Given the description of an element on the screen output the (x, y) to click on. 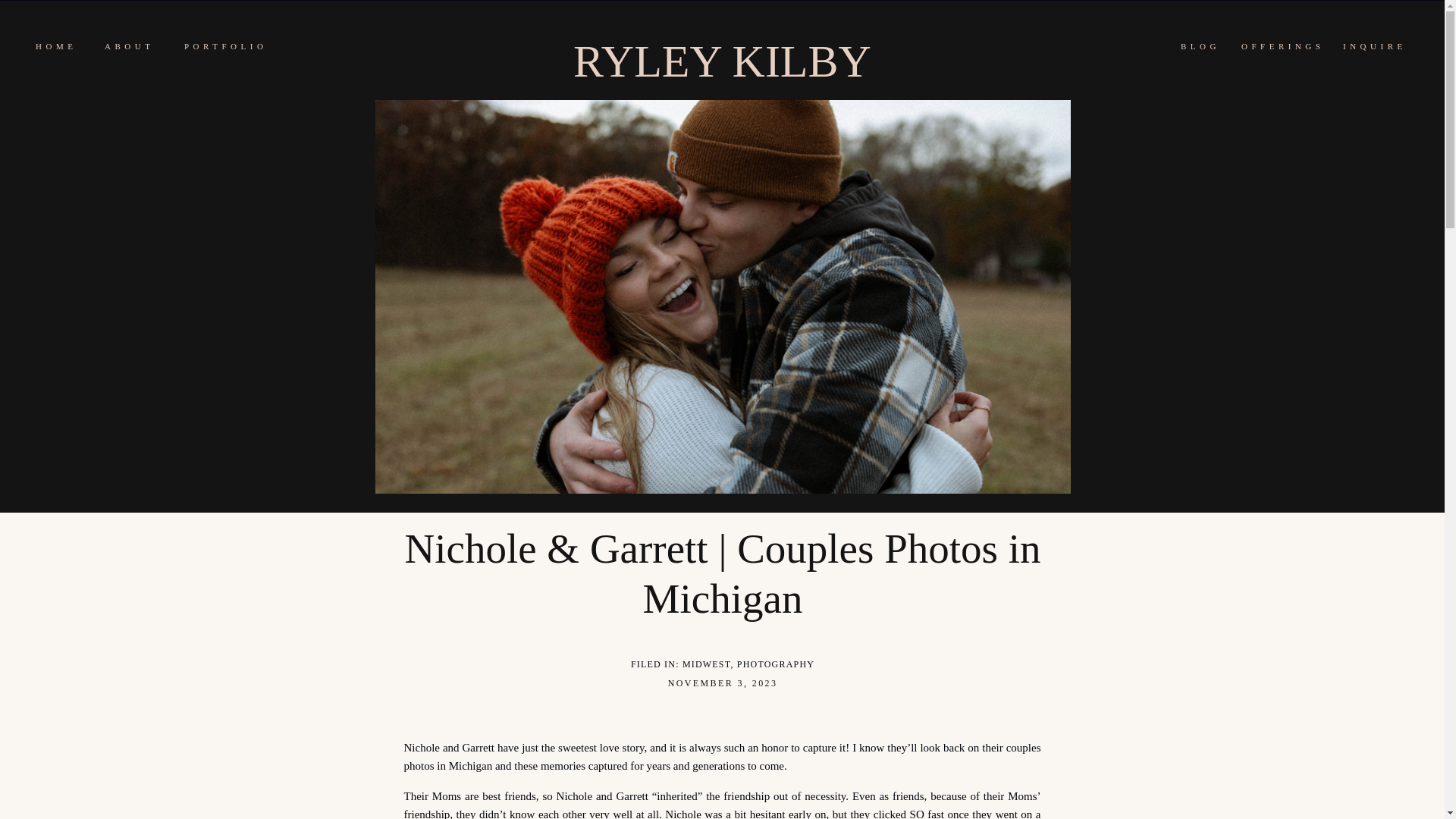
INQUIRE (1375, 46)
BLOG (1201, 46)
HOME (54, 46)
PHOTOGRAPHY (774, 664)
MIDWEST (706, 664)
ABOUT (129, 46)
OFFERINGS (1282, 46)
RYLEY KILBY (722, 59)
PORTFOLIO (223, 46)
